Given the description of an element on the screen output the (x, y) to click on. 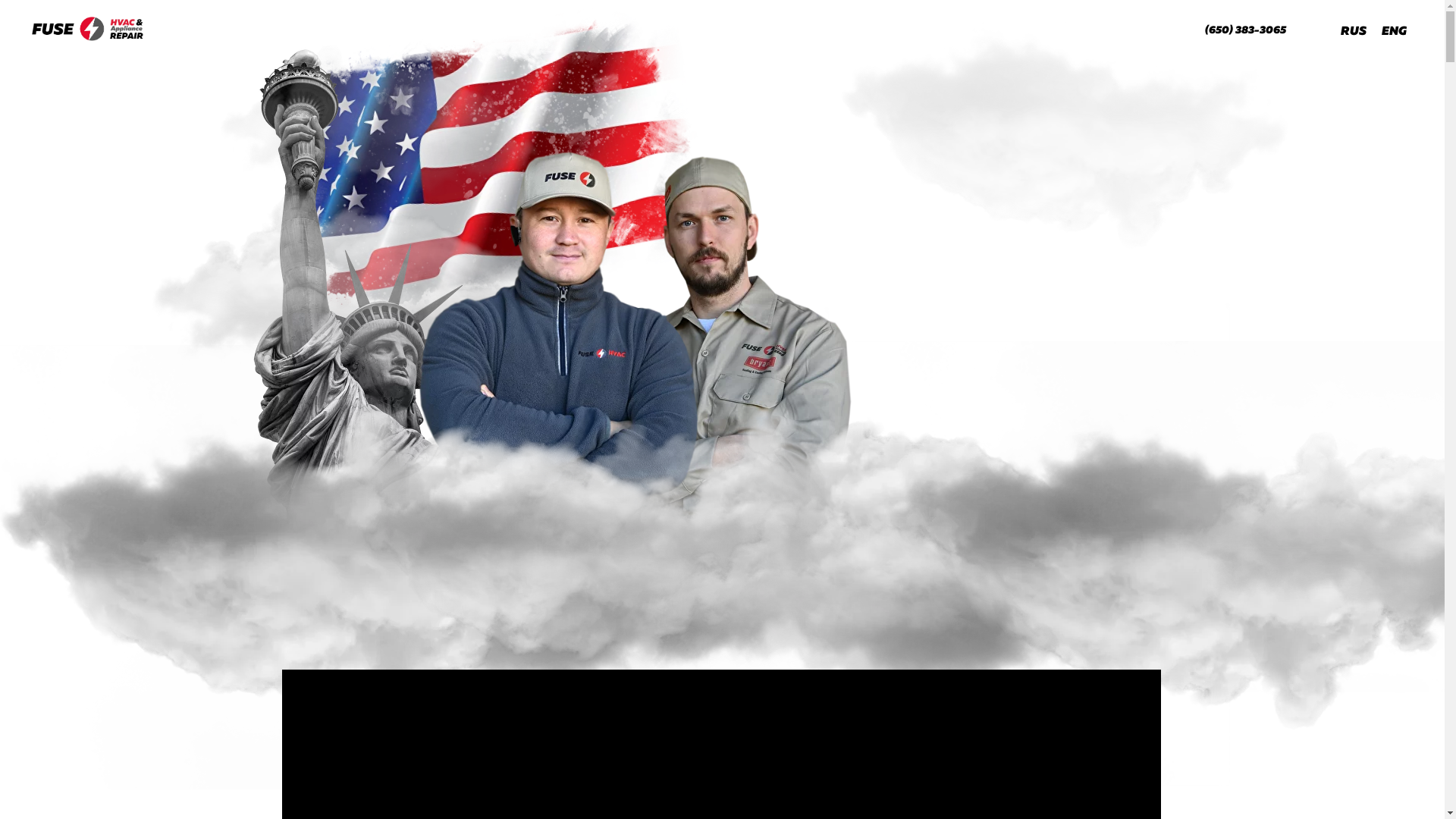
(650) 383-3065 Element type: text (1245, 30)
RUS Element type: text (1353, 31)
ENG Element type: text (1393, 31)
